Given the description of an element on the screen output the (x, y) to click on. 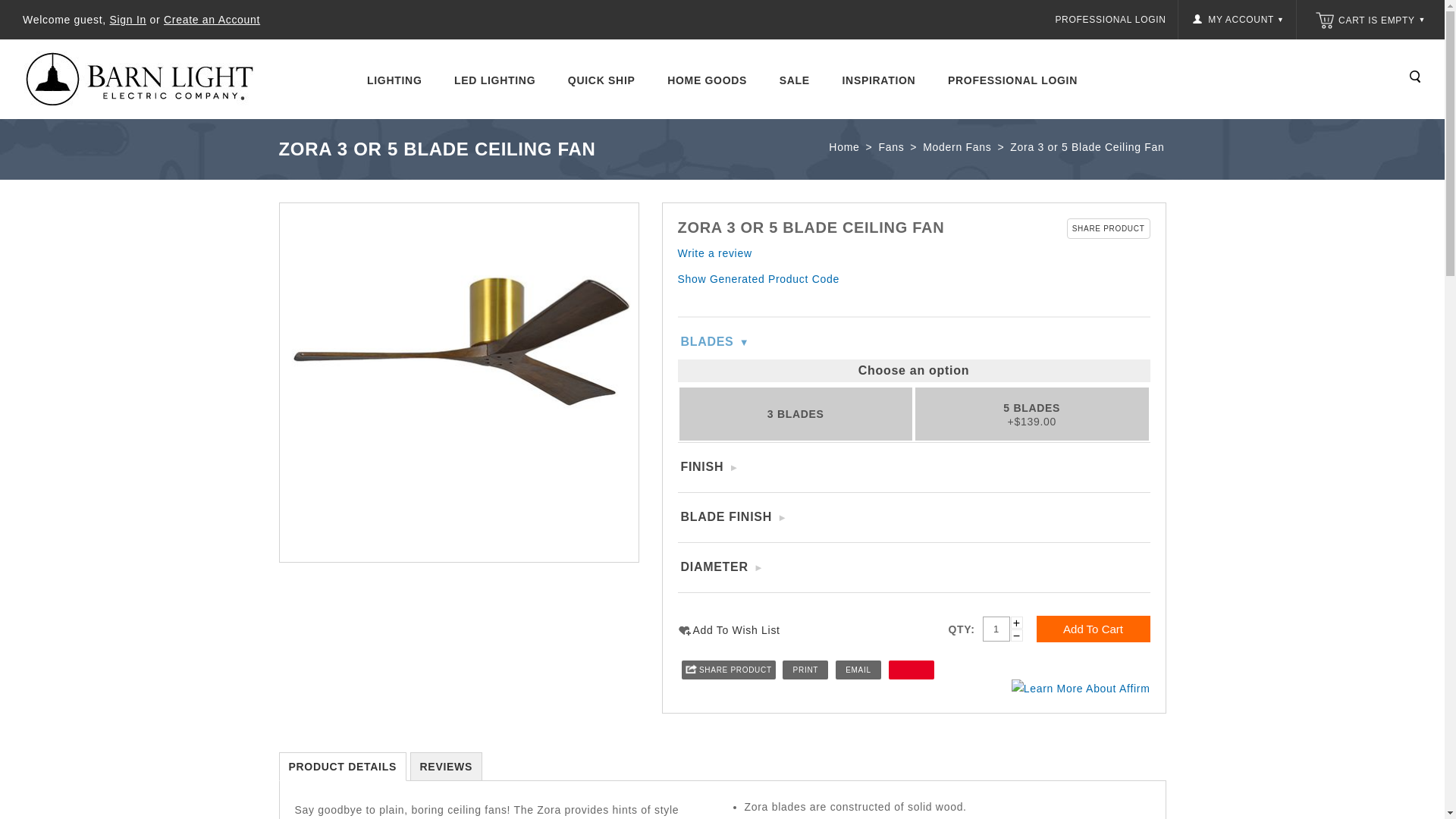
PROFESSIONAL LOGIN (1110, 19)
LIGHTING (393, 80)
1 (996, 628)
The Zora 3 Blade Ceiling Fan, Brushed Brass, 52" Diameter (459, 382)
Sign In (128, 19)
Create an Account (211, 19)
Barn Light Electric Company (147, 78)
